Given the description of an element on the screen output the (x, y) to click on. 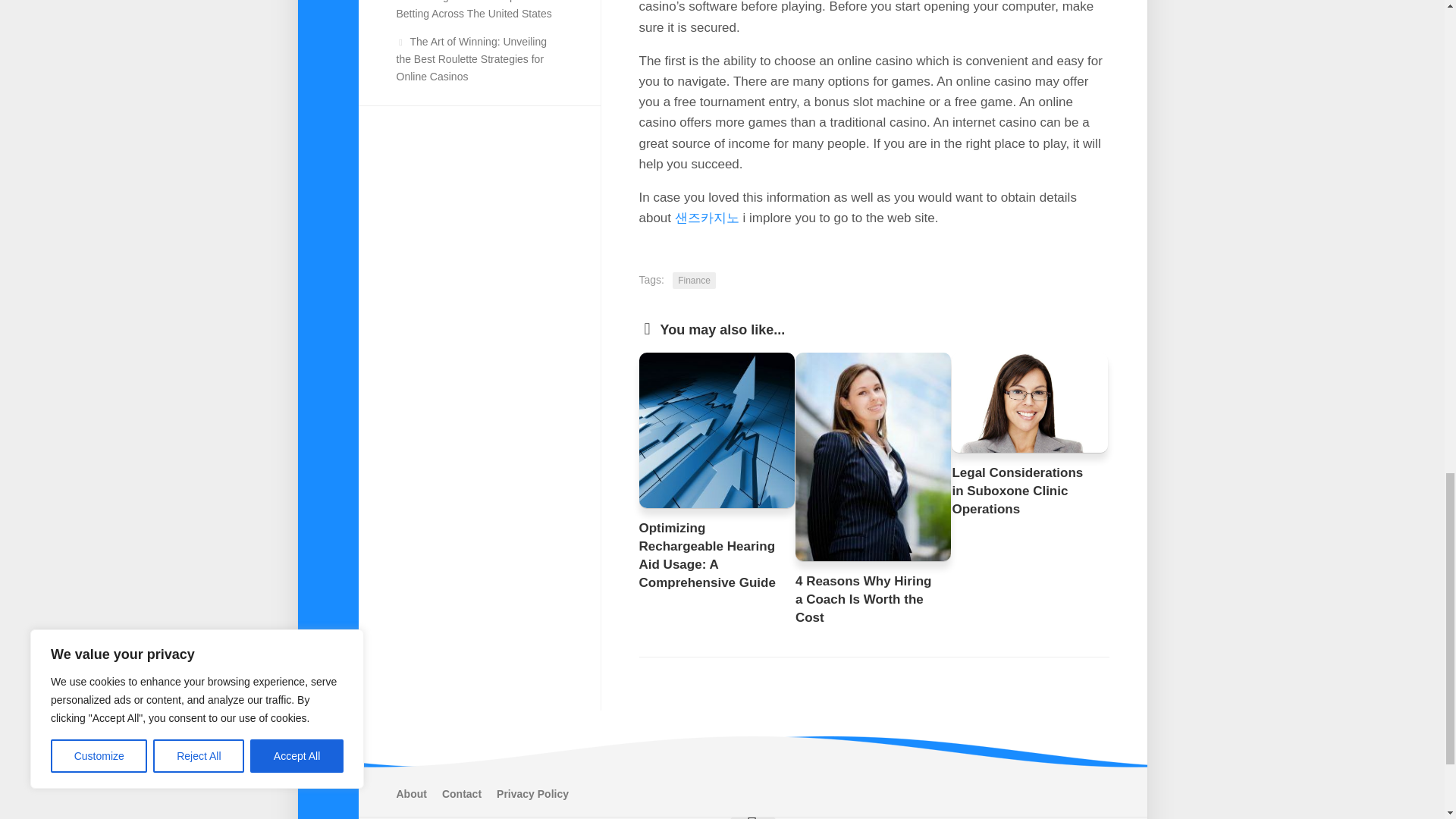
Finance (694, 280)
4 Reasons Why Hiring a Coach Is Worth the Cost (862, 599)
Legal Considerations in Suboxone Clinic Operations (1017, 491)
